Given the description of an element on the screen output the (x, y) to click on. 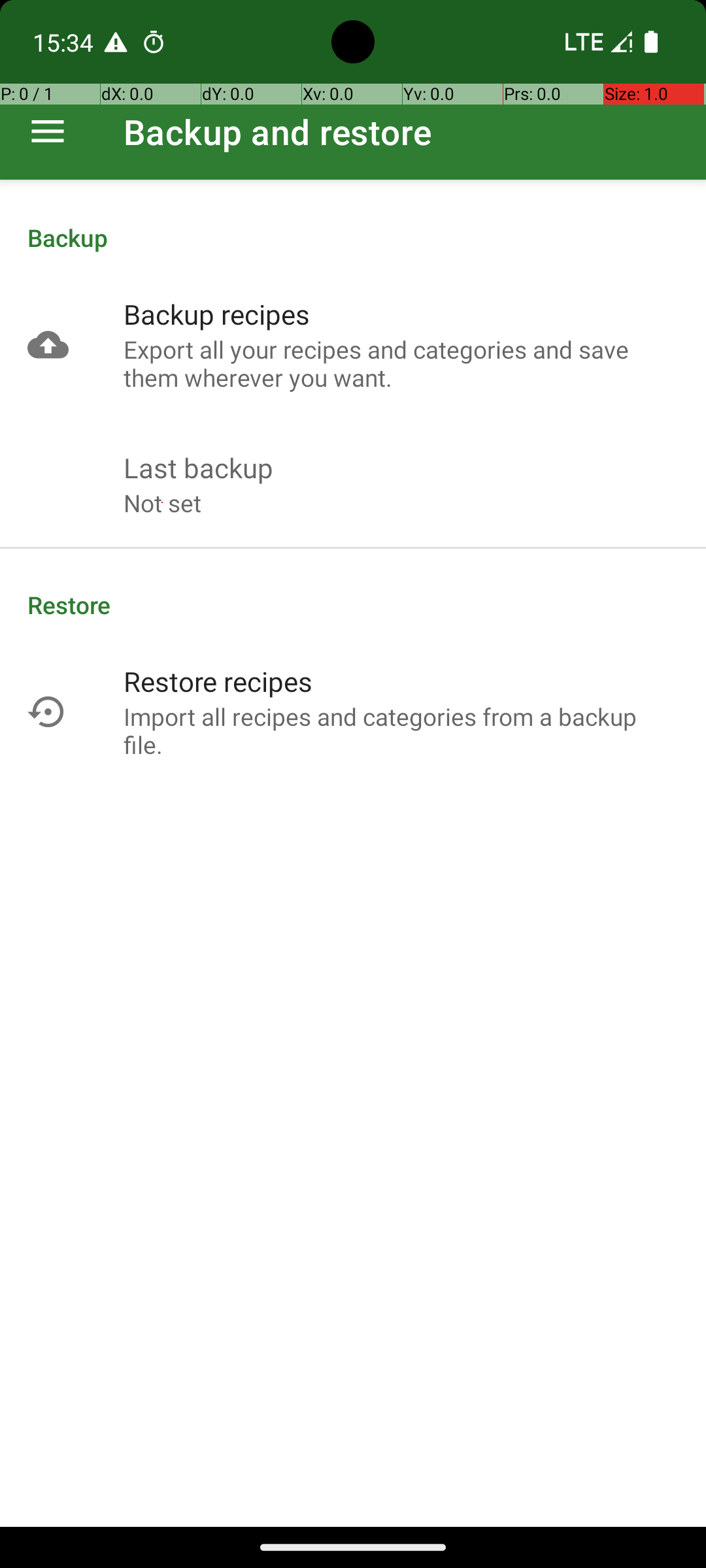
Backup and restore Element type: android.widget.TextView (277, 131)
Backup Element type: android.widget.TextView (352, 237)
Backup recipes Element type: android.widget.TextView (216, 313)
Export all your recipes and categories and save them wherever you want. Element type: android.widget.TextView (400, 362)
Last backup Element type: android.widget.TextView (198, 467)
Not set Element type: android.widget.TextView (162, 502)
Restore Element type: android.widget.TextView (352, 604)
Restore recipes Element type: android.widget.TextView (217, 680)
Import all recipes and categories from a backup file. Element type: android.widget.TextView (400, 730)
